Given the description of an element on the screen output the (x, y) to click on. 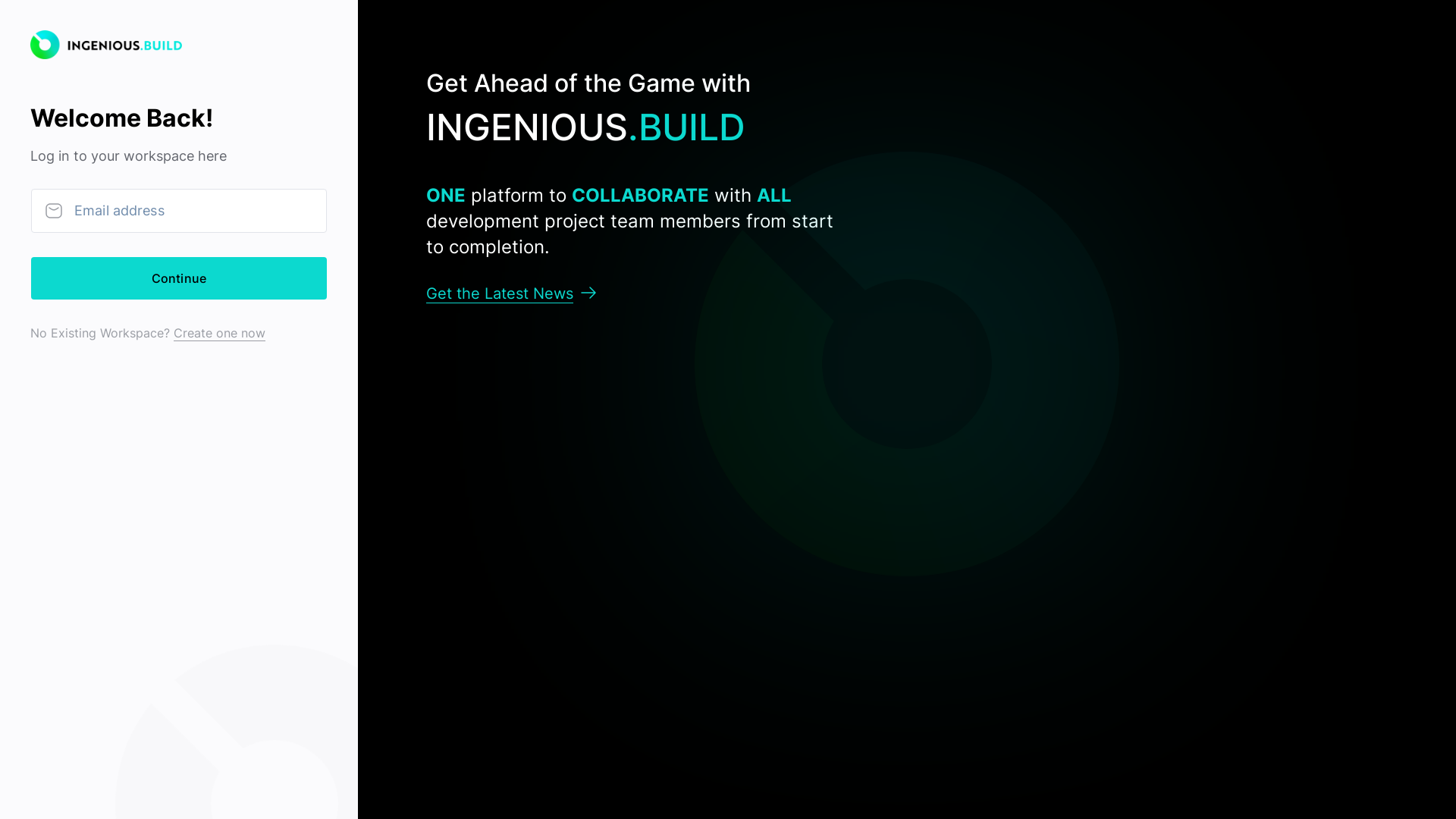
Continue Element type: text (178, 277)
Get the Latest News Element type: text (511, 293)
Create one now Element type: text (219, 332)
